Given the description of an element on the screen output the (x, y) to click on. 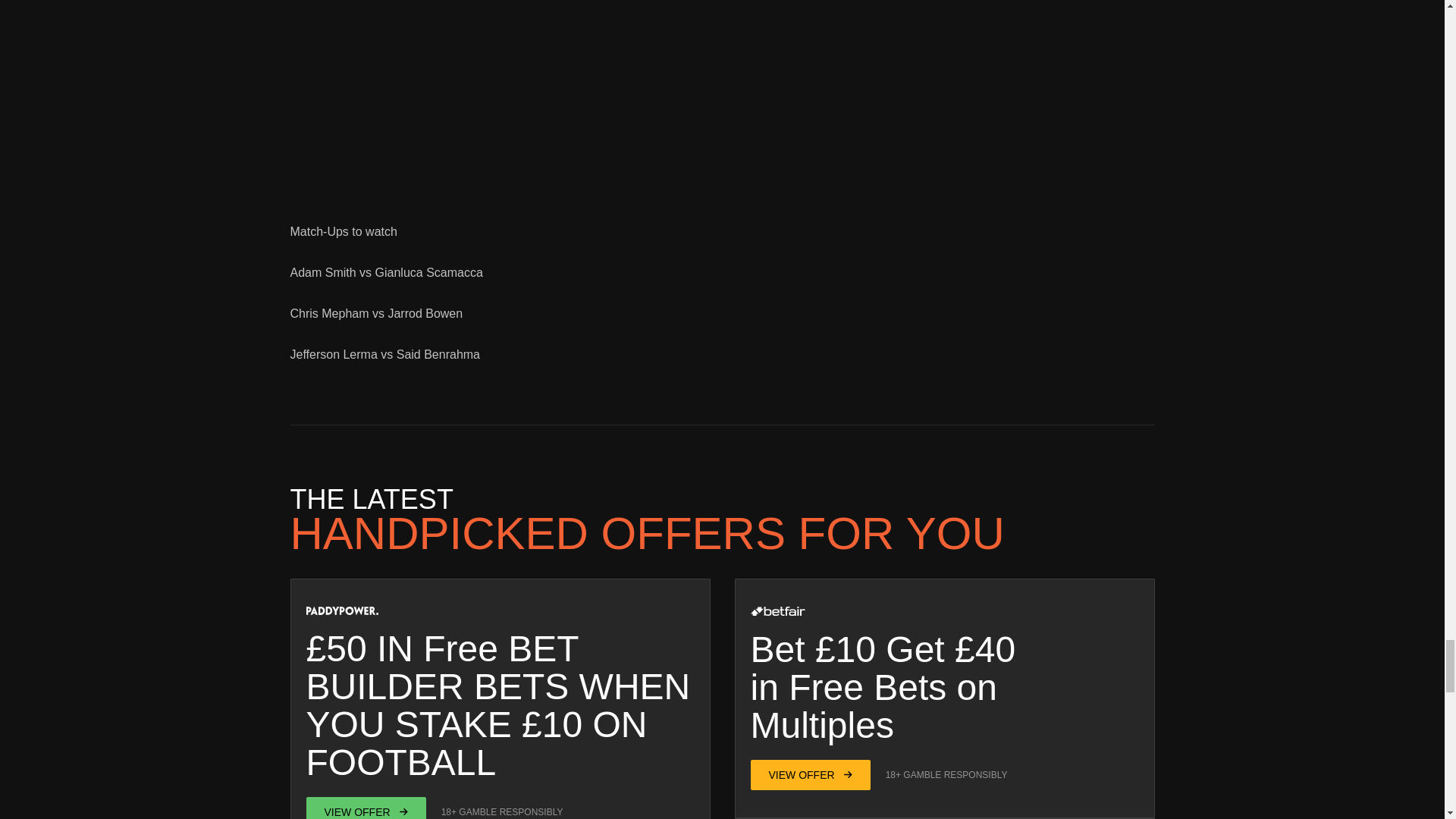
VIEW OFFER (365, 807)
VIEW OFFER (810, 775)
Free Bets (867, 687)
